Given the description of an element on the screen output the (x, y) to click on. 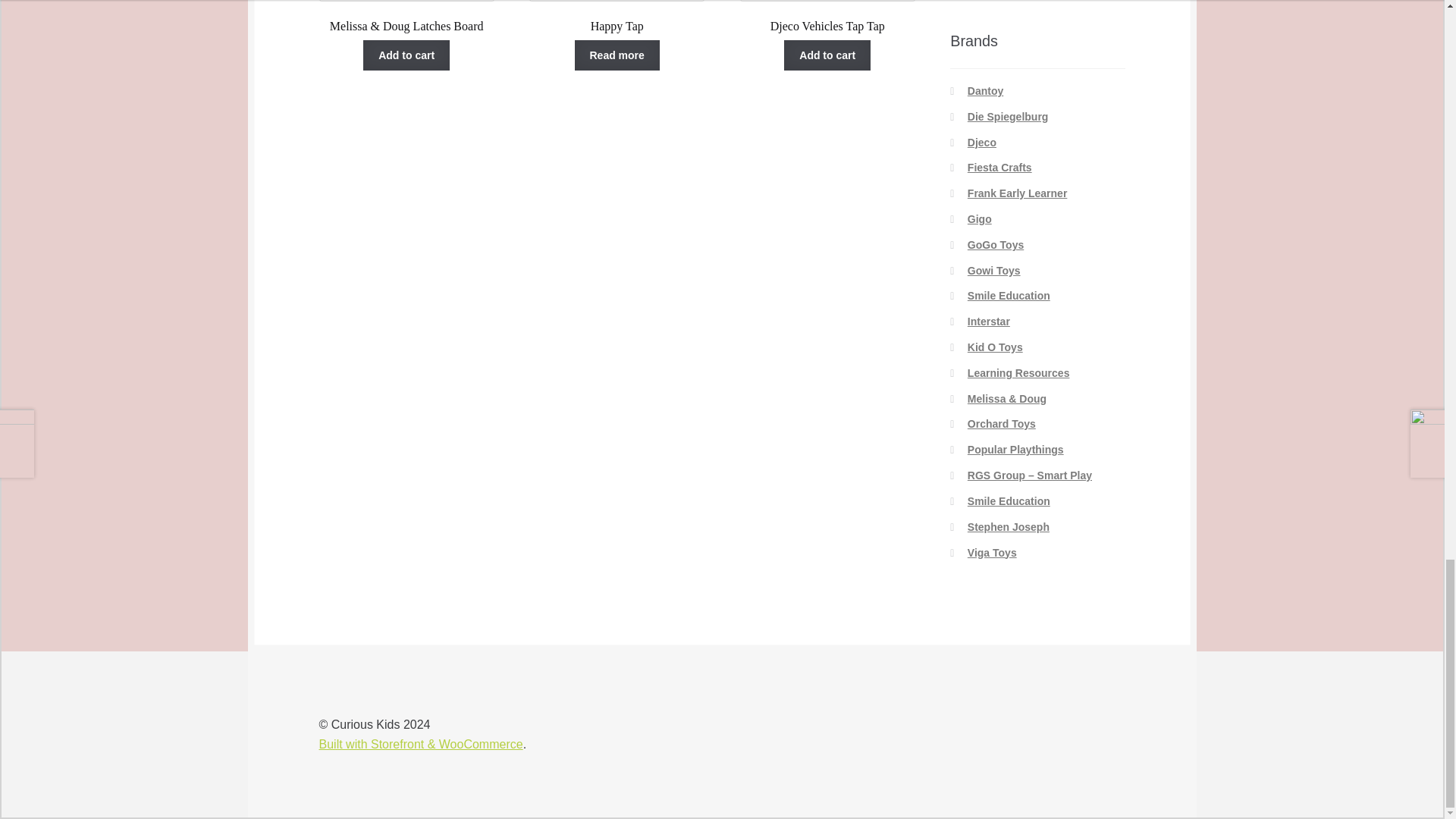
Add to cart (405, 55)
Add to cart (616, 16)
Read more (827, 16)
WooCommerce - The Best eCommerce Platform for WordPress (827, 55)
